Given the description of an element on the screen output the (x, y) to click on. 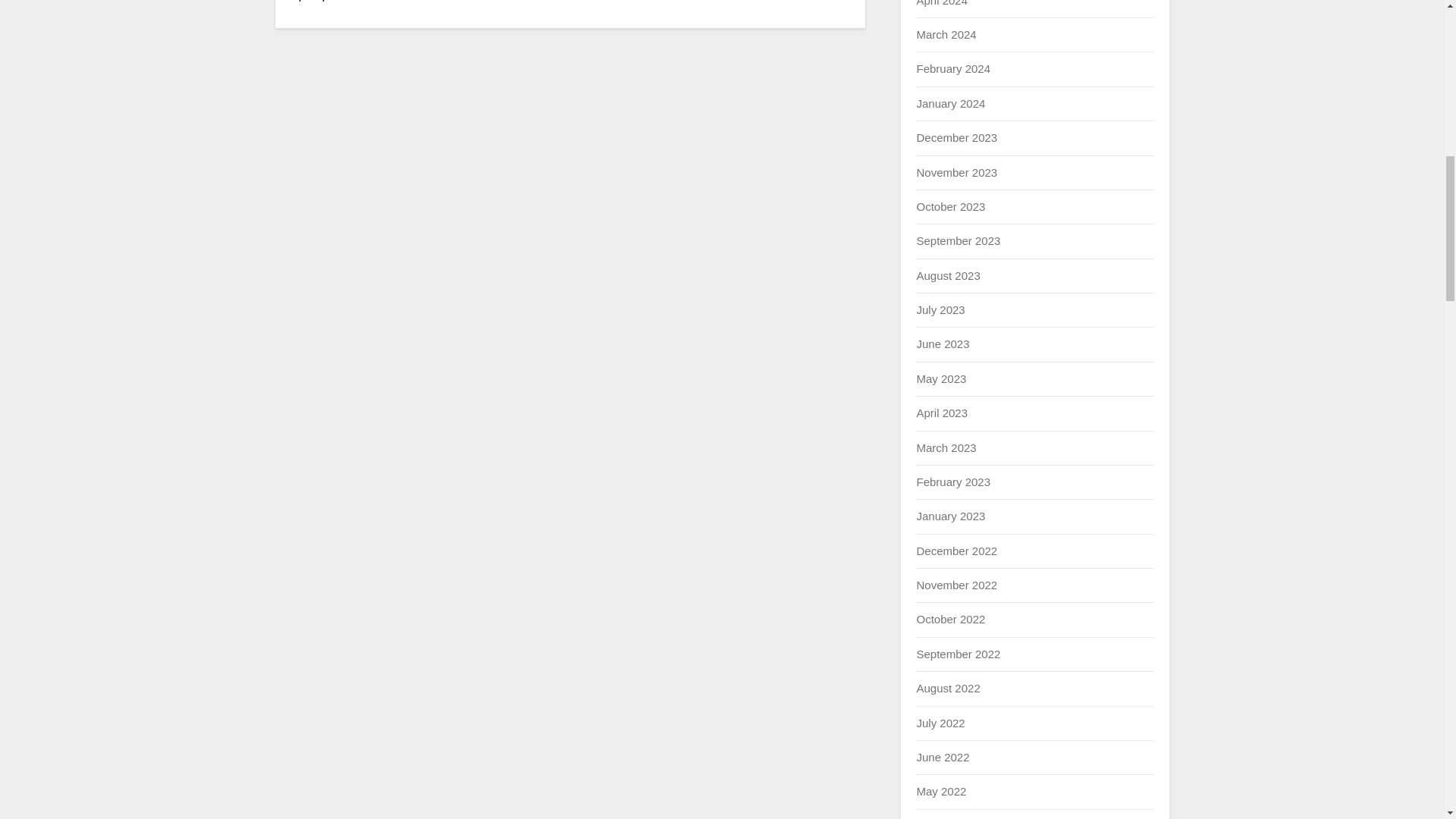
April 2023 (941, 412)
August 2023 (947, 275)
November 2023 (956, 172)
March 2023 (945, 447)
March 2024 (945, 33)
August 2022 (947, 687)
October 2023 (950, 205)
December 2022 (956, 550)
September 2022 (957, 653)
September 2023 (957, 240)
May 2023 (940, 378)
January 2023 (950, 515)
November 2022 (956, 584)
July 2023 (939, 309)
January 2024 (950, 103)
